Given the description of an element on the screen output the (x, y) to click on. 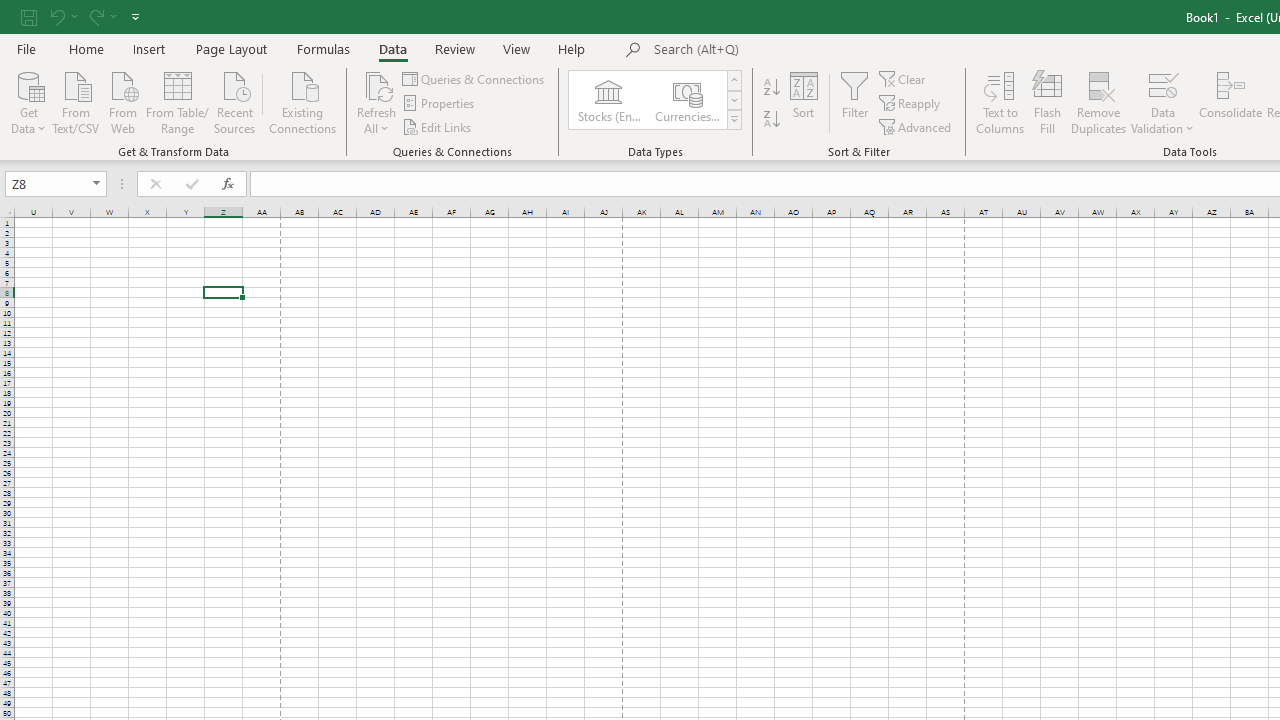
Stocks (English) (608, 100)
Recent Sources (235, 101)
Remove Duplicates (1098, 102)
Queries & Connections (474, 78)
Existing Connections (303, 101)
Edit Links (438, 126)
Currencies (English) (686, 100)
Filter (854, 102)
